Given the description of an element on the screen output the (x, y) to click on. 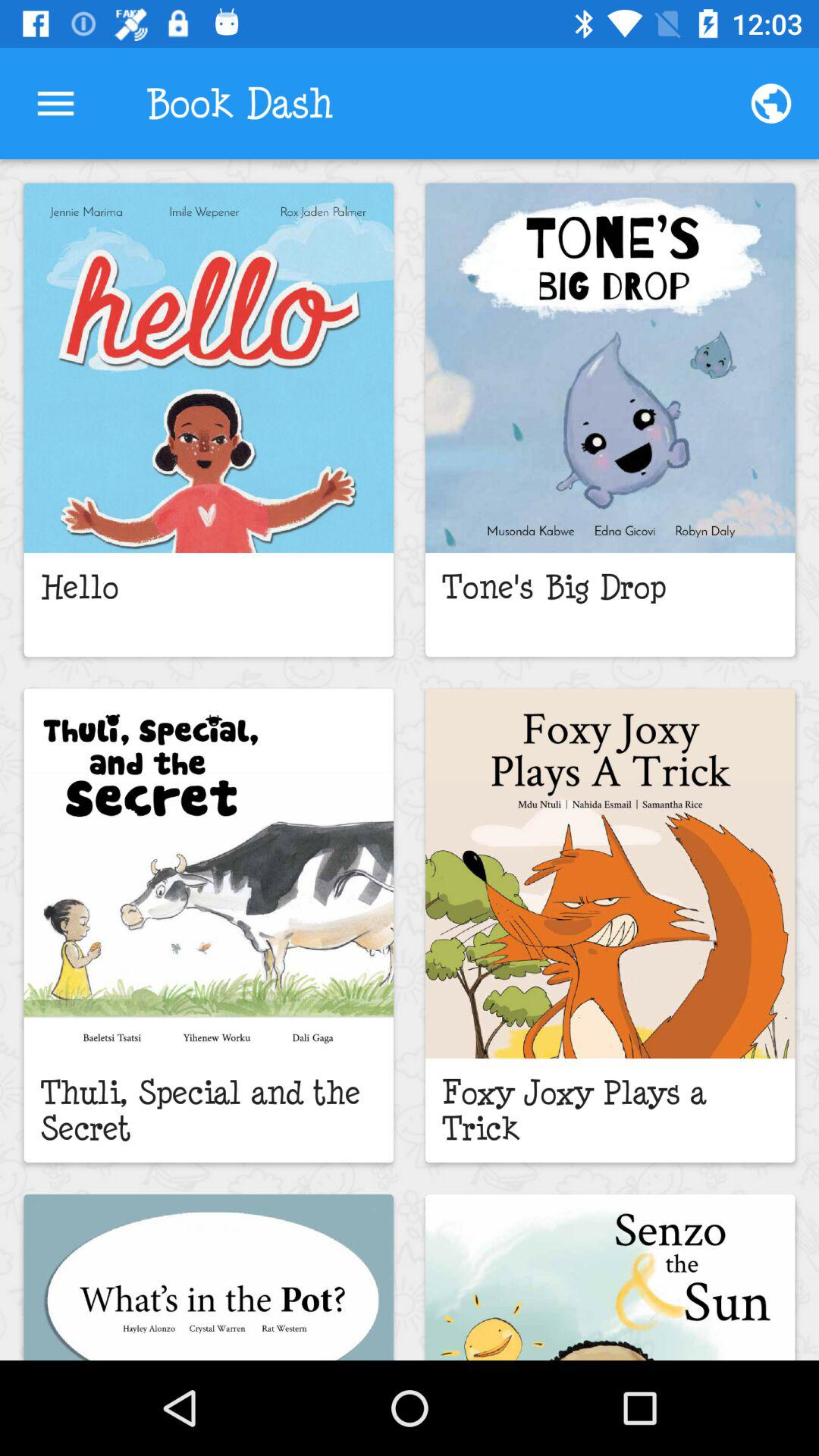
turn on icon to the left of book dash icon (55, 103)
